Given the description of an element on the screen output the (x, y) to click on. 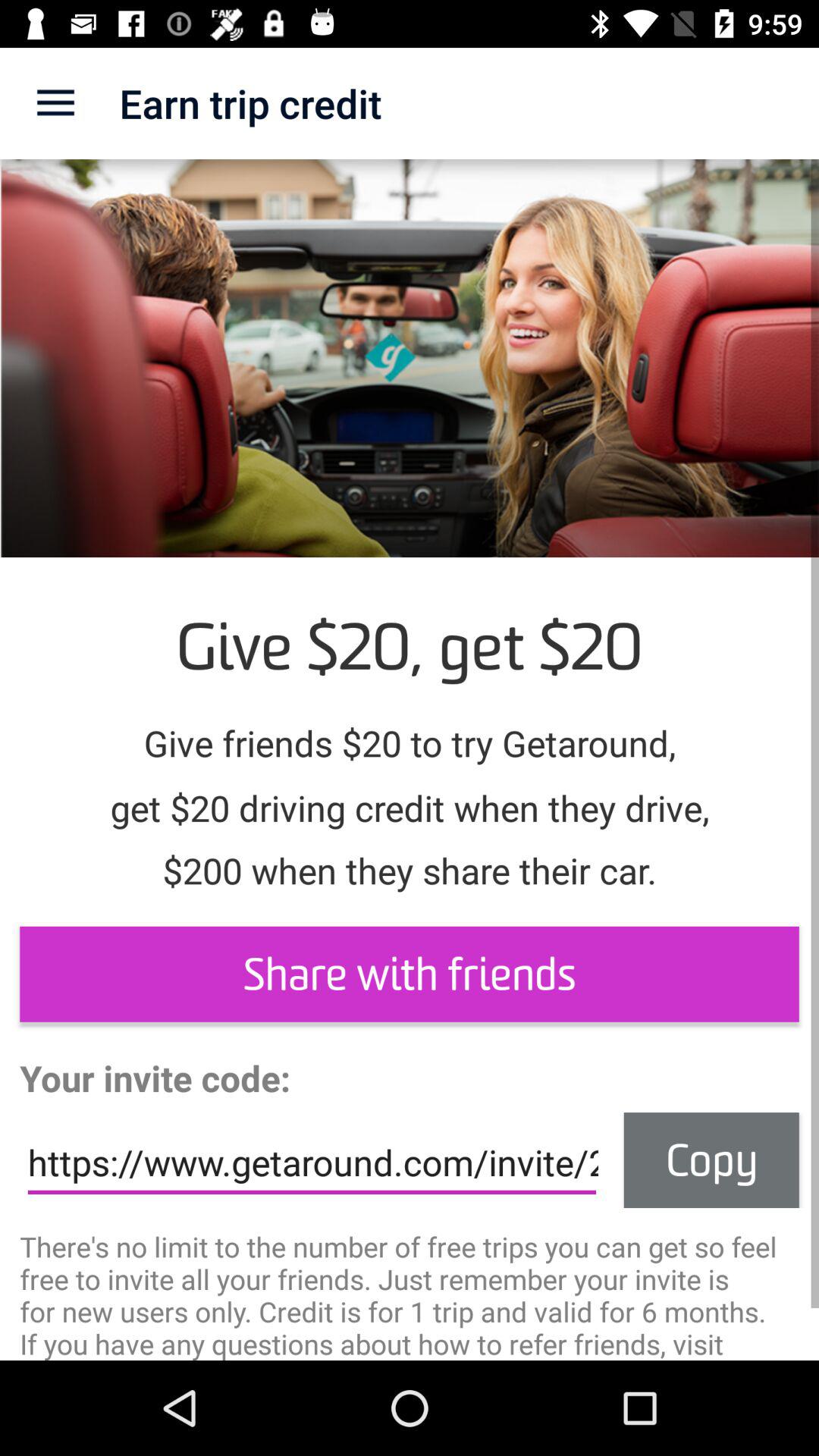
click the icon below the share with friends icon (711, 1160)
